Given the description of an element on the screen output the (x, y) to click on. 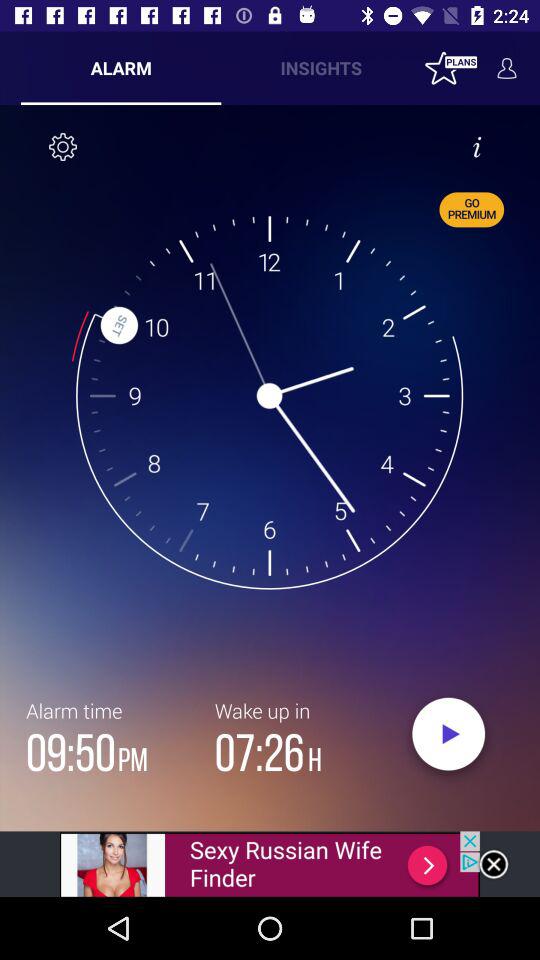
info (477, 147)
